Given the description of an element on the screen output the (x, y) to click on. 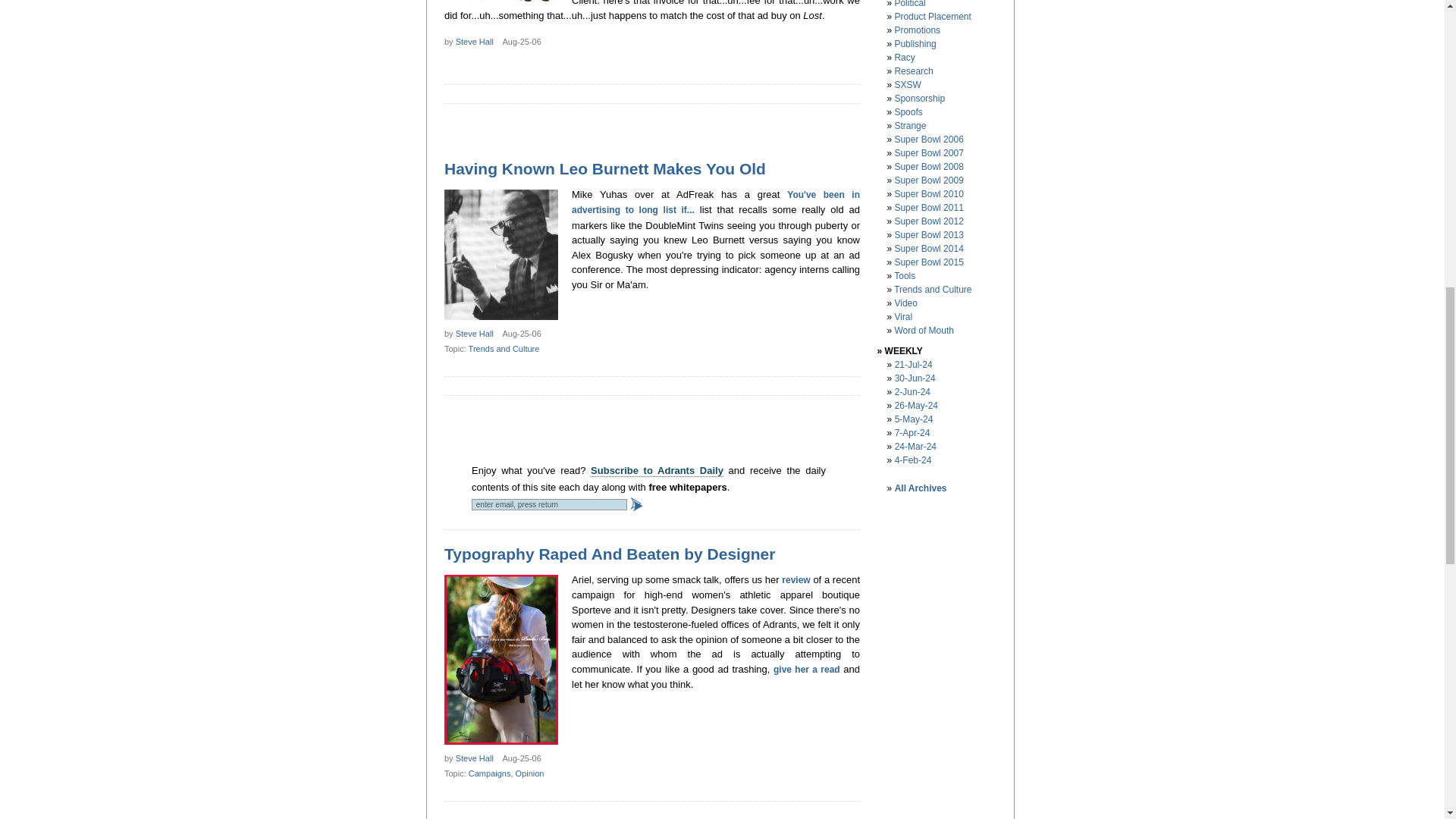
Subscribe (636, 504)
Steve Hall (474, 40)
You've been in advertising to long list if... (716, 202)
Steve Hall (474, 333)
Having Known Leo Burnett Makes You Old (604, 168)
